Given the description of an element on the screen output the (x, y) to click on. 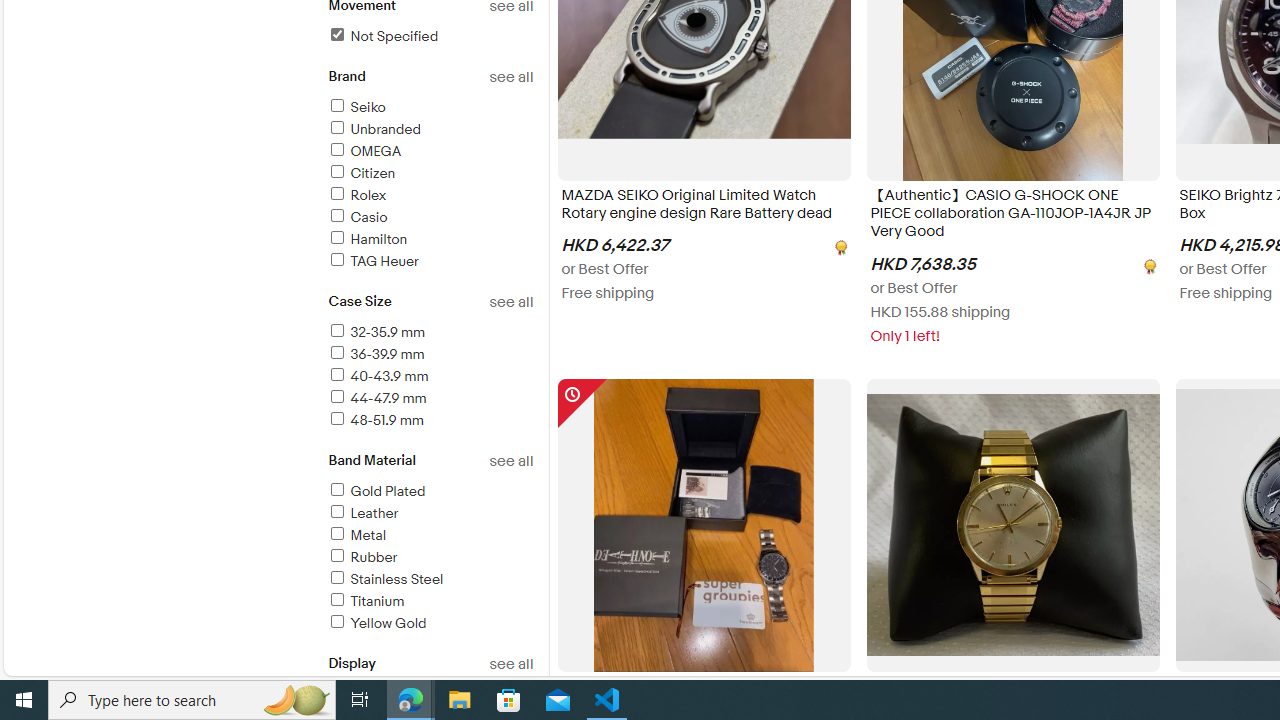
Metal (430, 536)
36-39.9 mm (430, 355)
48-51.9 mm (374, 420)
OMEGA (430, 152)
32-35.9 mm (376, 332)
See all case size refinements (510, 302)
Titanium (430, 602)
Rubber (430, 558)
Citizen (360, 173)
Rolex (430, 196)
OMEGA (363, 151)
Yellow Gold (430, 624)
